Given the description of an element on the screen output the (x, y) to click on. 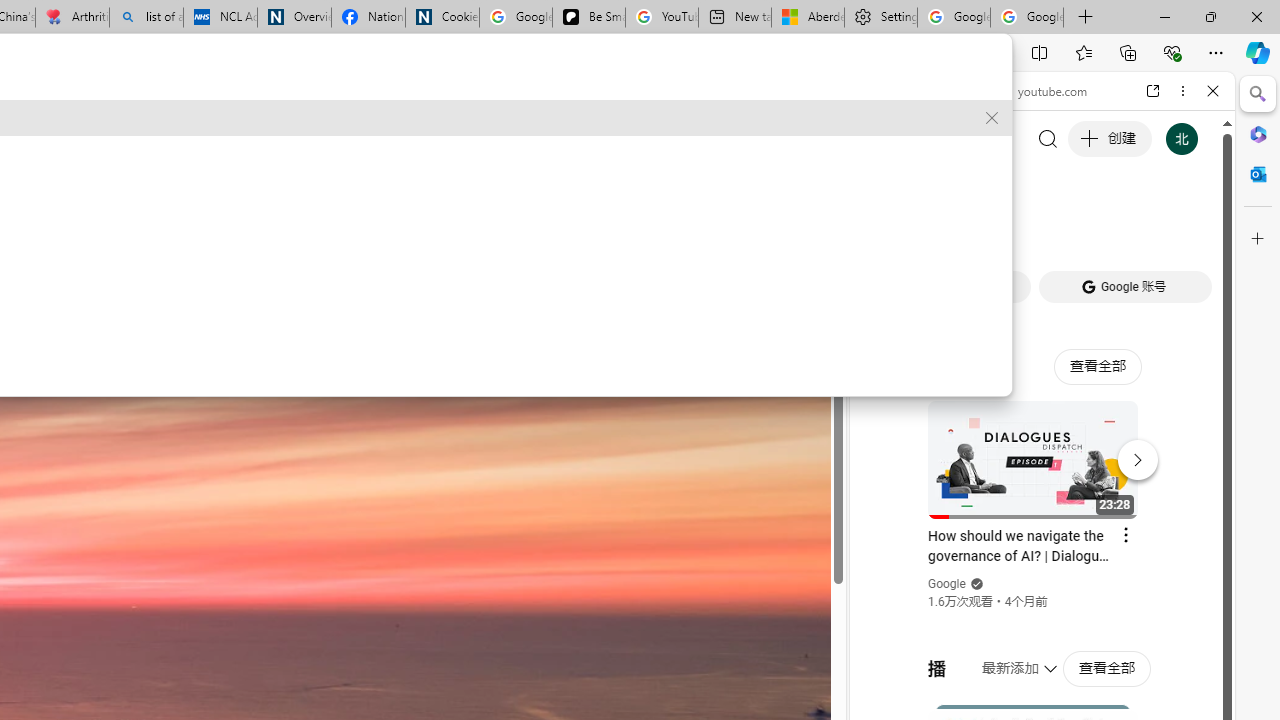
Settings and more (Alt+F) (1215, 52)
#you (1042, 445)
More options (1182, 91)
Trailer #2 [HD] (1042, 592)
Microsoft Rewards 84 (537, 94)
Microsoft 365 (1258, 133)
Eugene (457, 95)
Be Smart | creating Science videos | Patreon (588, 17)
IMAGES (939, 228)
New tab (734, 17)
Google (1042, 494)
